Given the description of an element on the screen output the (x, y) to click on. 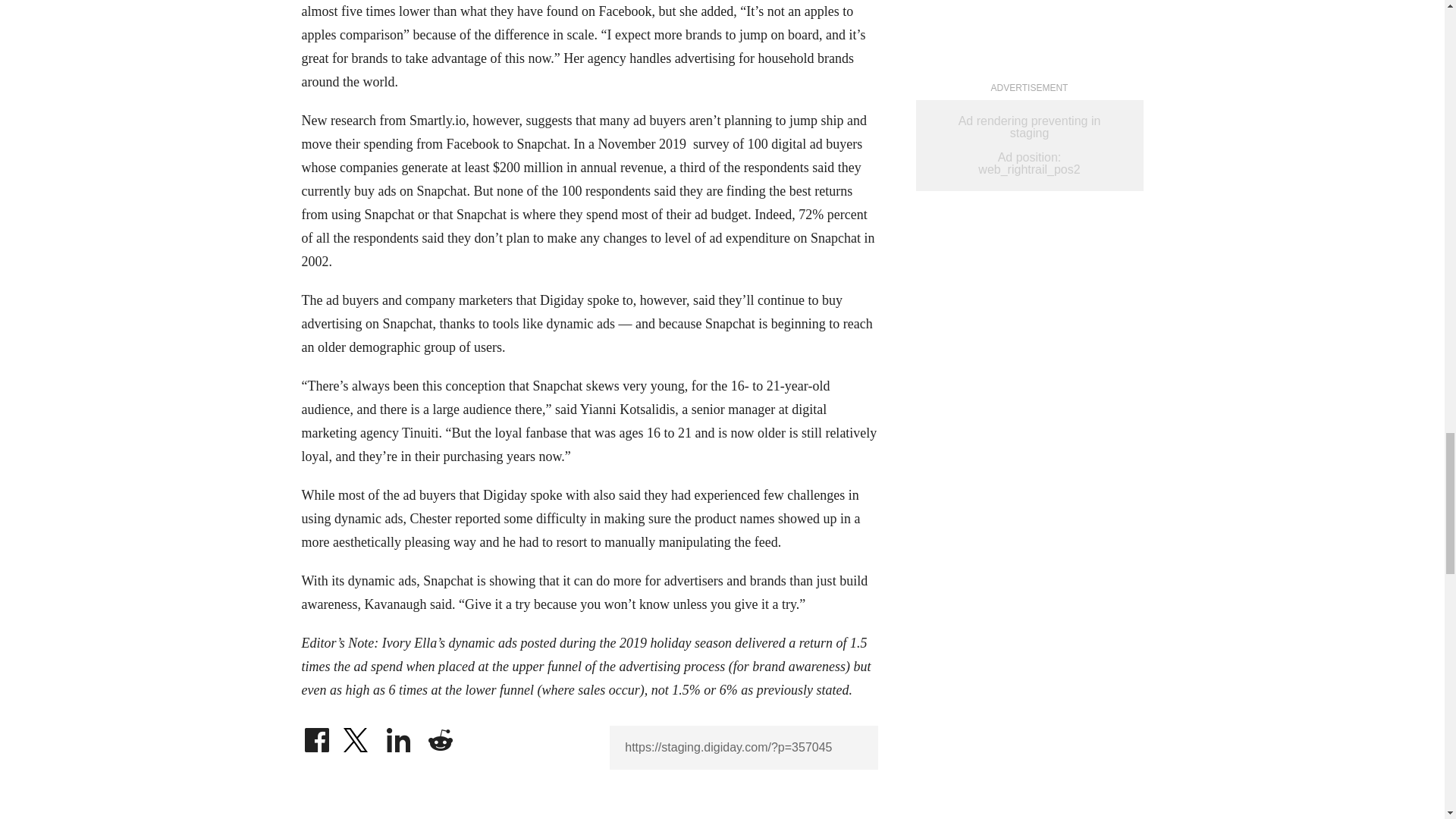
Share on Reddit (440, 735)
Share on Twitter (357, 735)
Share on Facebook (316, 735)
Share on LinkedIn (398, 735)
